Given the description of an element on the screen output the (x, y) to click on. 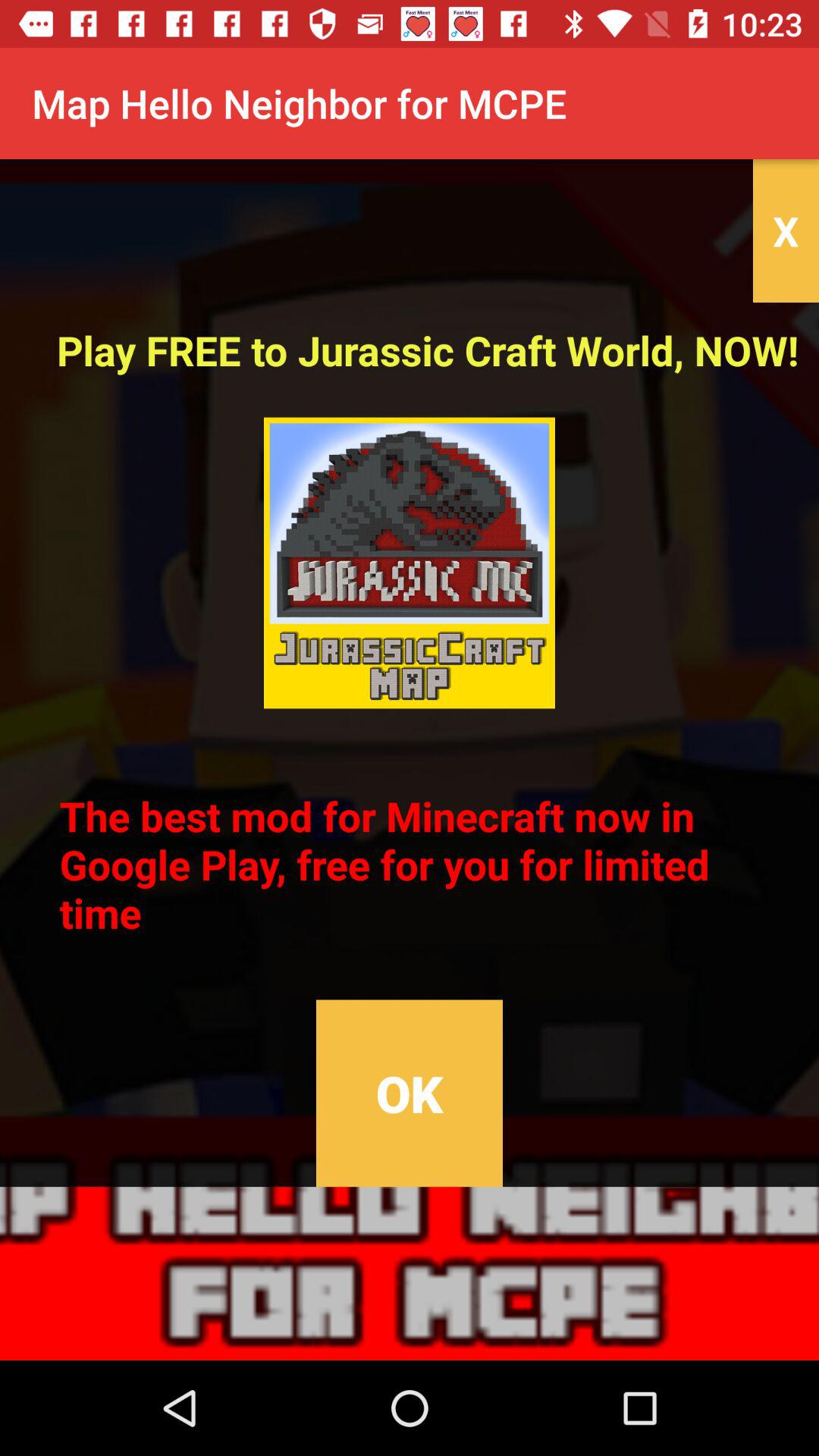
turn on the item above play free to item (786, 230)
